Given the description of an element on the screen output the (x, y) to click on. 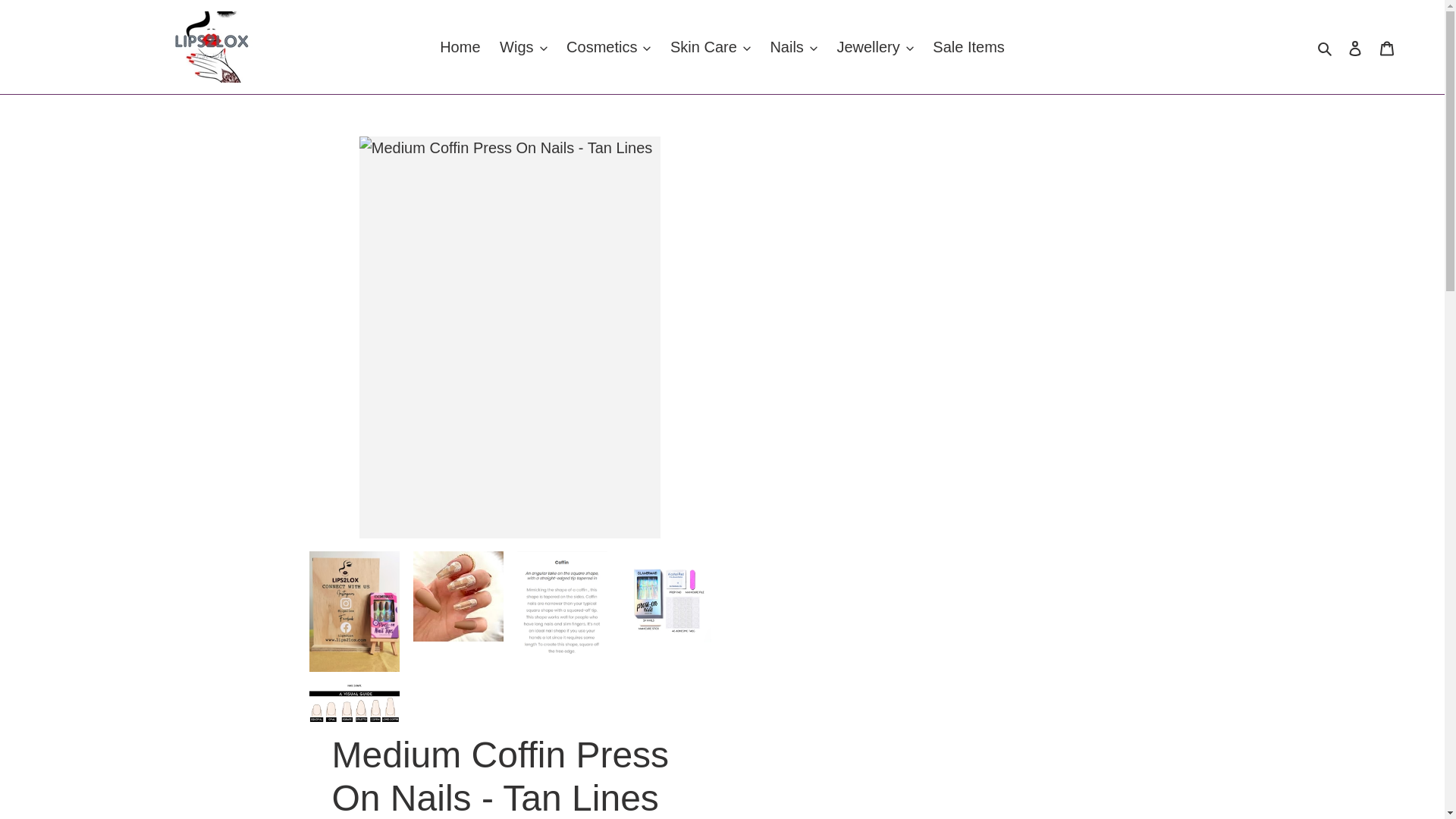
Home (459, 46)
Cosmetics (608, 46)
Wigs (523, 46)
